Given the description of an element on the screen output the (x, y) to click on. 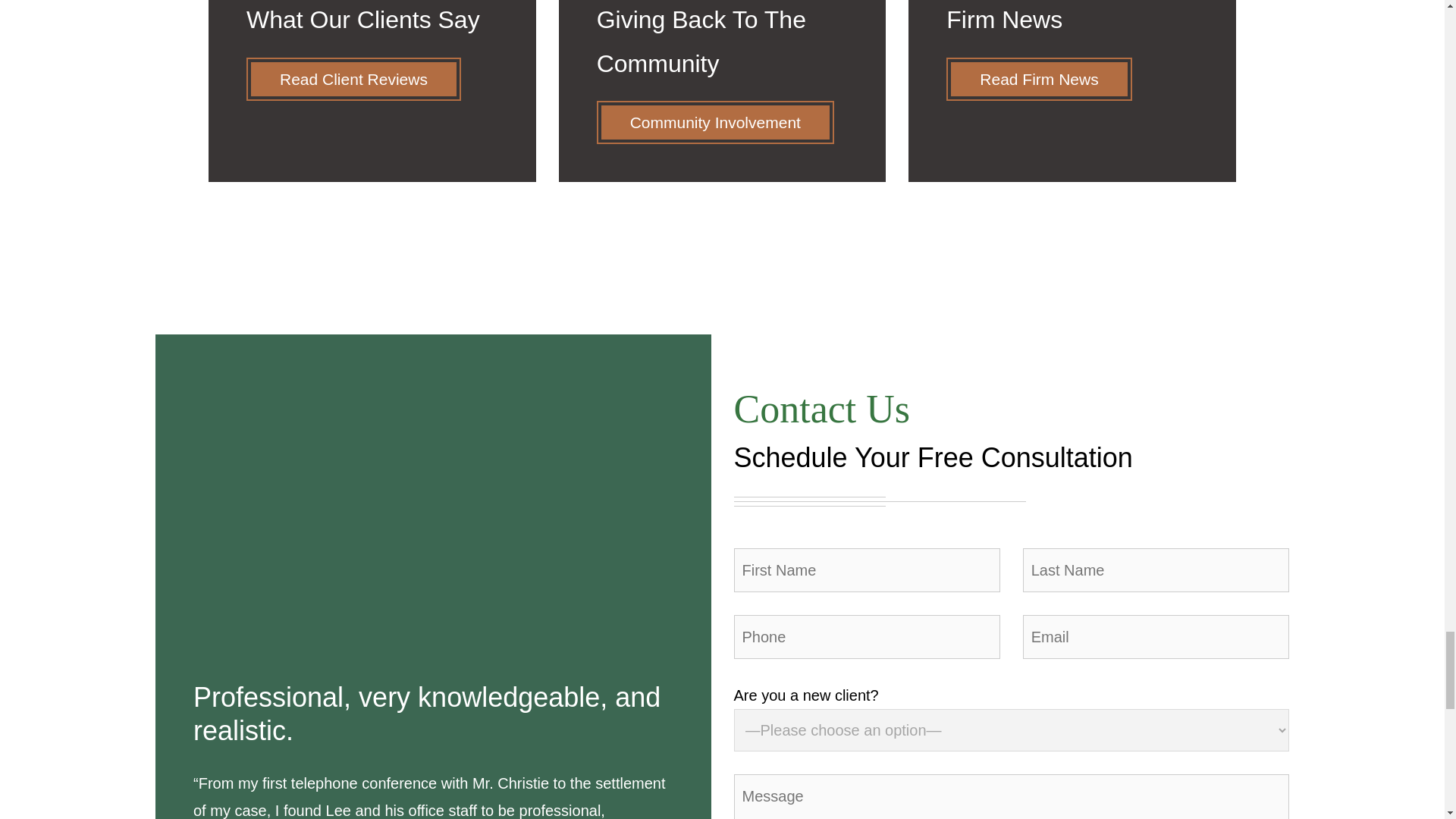
Firm News (1072, 91)
What Our Clients Say (371, 91)
Giving Back To The Community (722, 91)
